Given the description of an element on the screen output the (x, y) to click on. 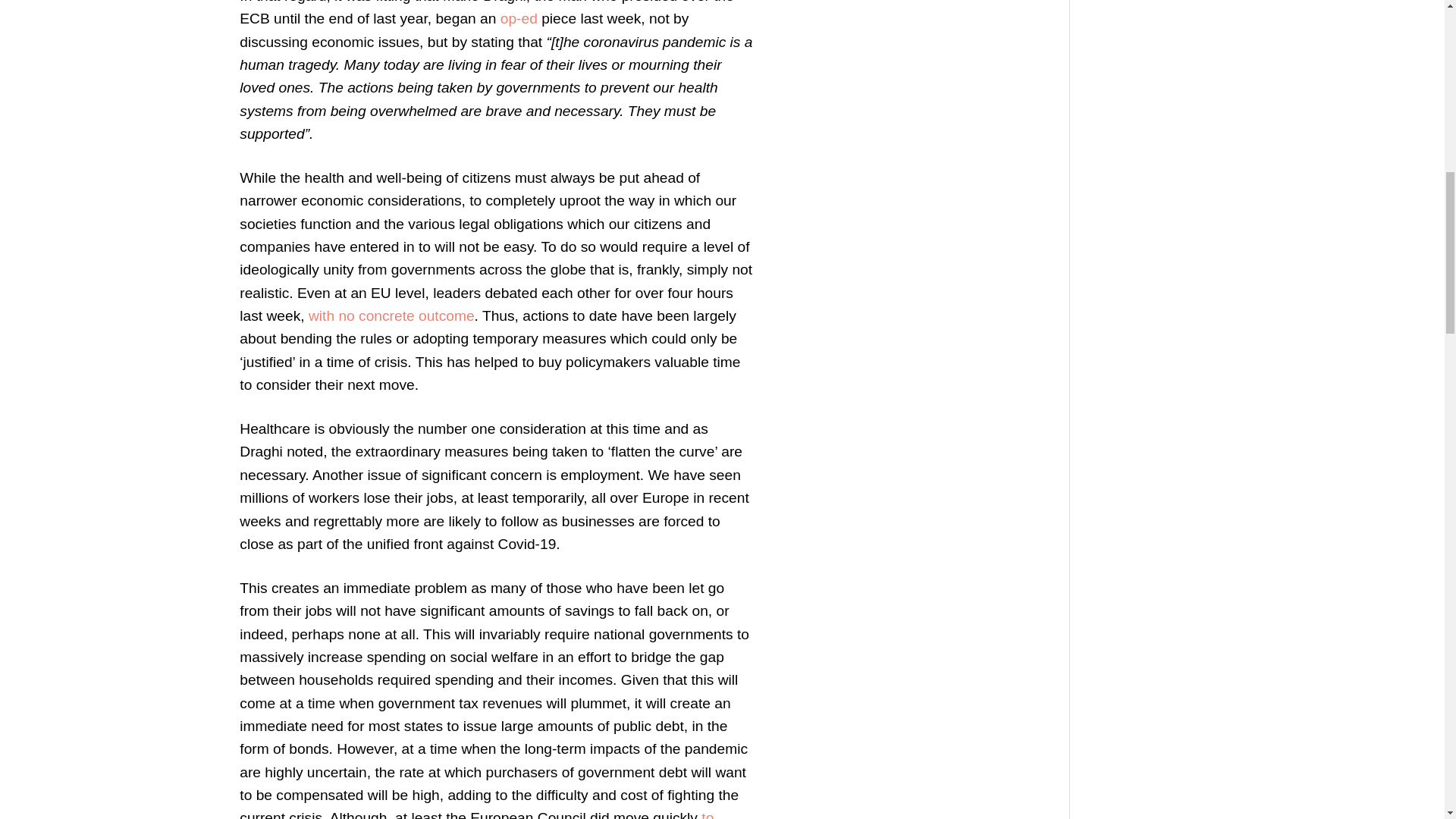
to suspend the fiscal deficit targets (476, 814)
with no concrete outcome (391, 315)
op-ed (518, 18)
